Given the description of an element on the screen output the (x, y) to click on. 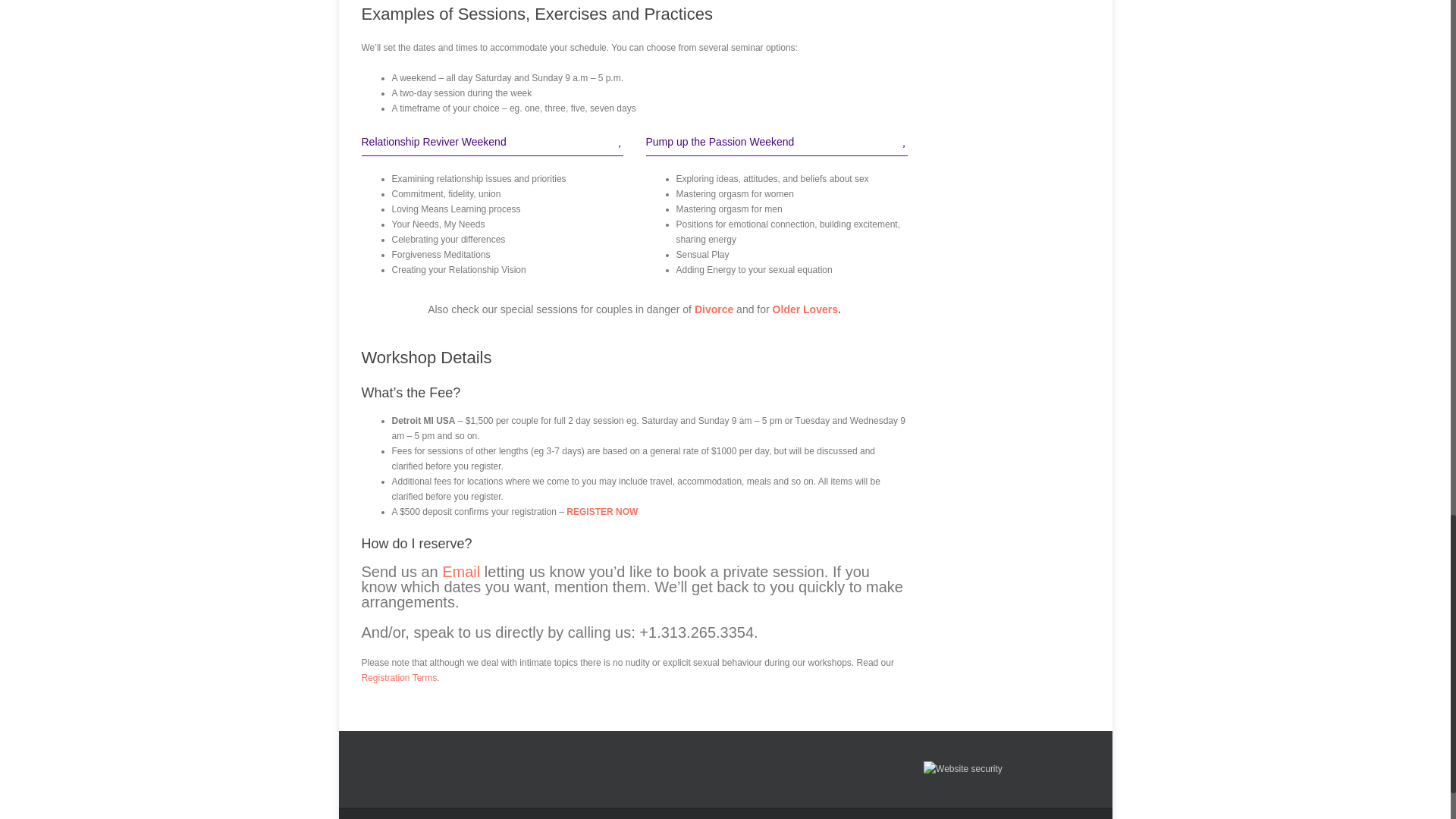
Divorce (713, 309)
